Given the description of an element on the screen output the (x, y) to click on. 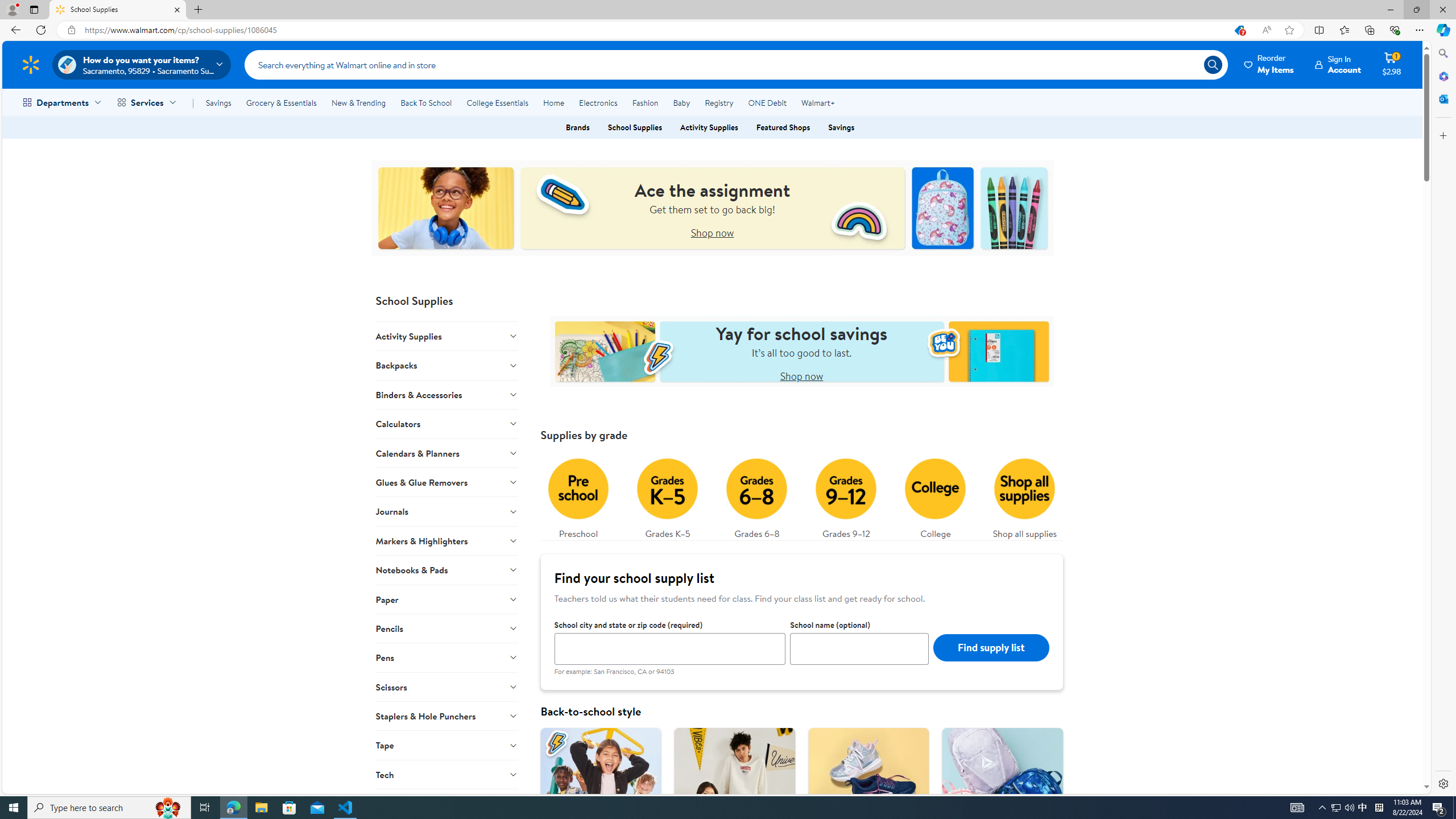
Featured Shops (782, 126)
Whiteboards & Blackboards (446, 803)
Scissors (446, 686)
Preschool (577, 495)
Pencils (446, 627)
Electronics (598, 102)
Grocery & Essentials (280, 102)
Walmart+ (817, 102)
This site has coupons! Shopping in Microsoft Edge, 7 (1239, 29)
